Given the description of an element on the screen output the (x, y) to click on. 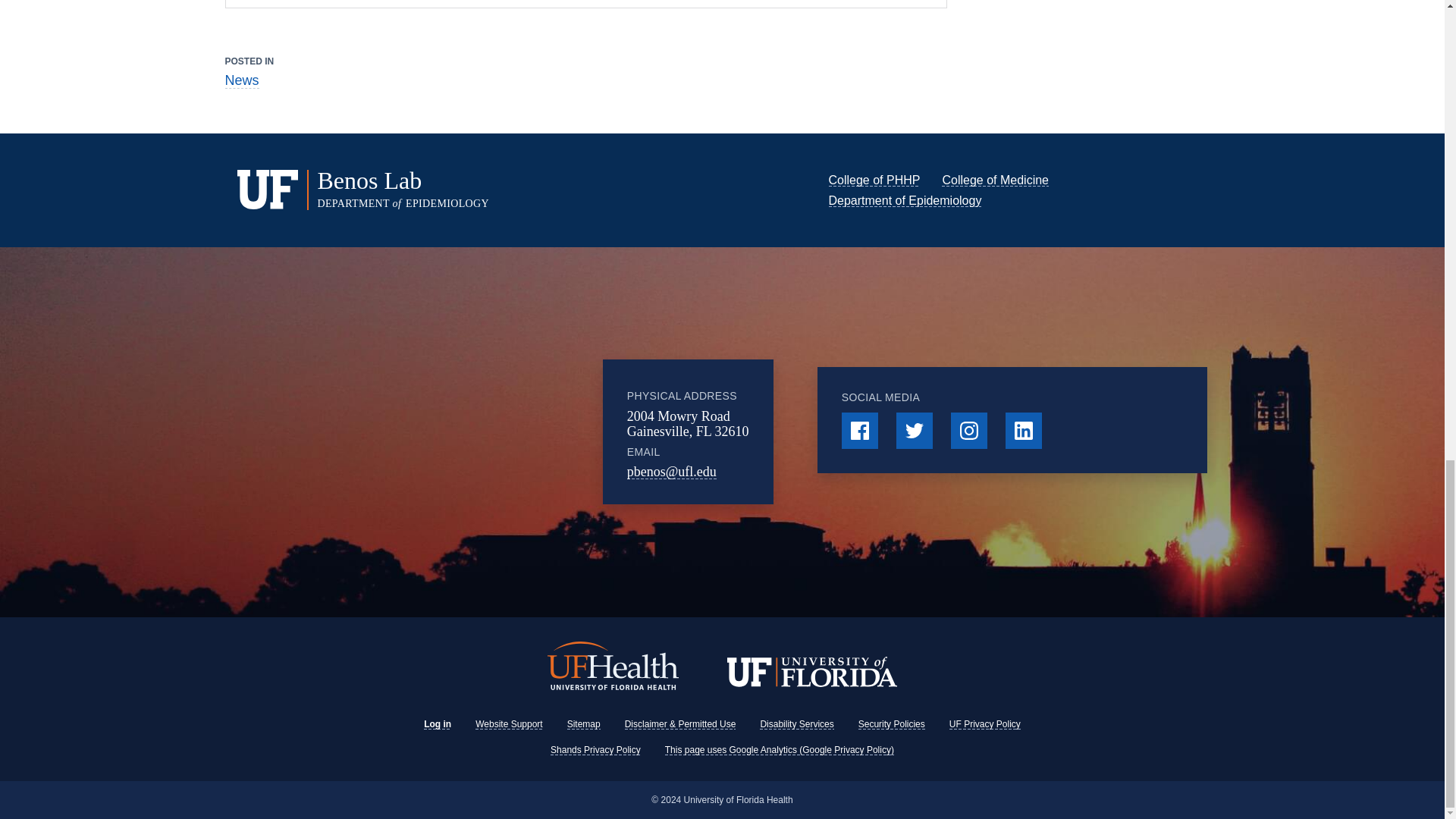
College of PHHP (874, 179)
Disability Services (796, 724)
College of Medicine (995, 179)
Google Maps Embed (478, 431)
Website Support (509, 724)
Log in (437, 724)
Department of Epidemiology (904, 200)
Security Policies (891, 724)
UF Privacy Policy (984, 724)
Sitemap (583, 724)
